Given the description of an element on the screen output the (x, y) to click on. 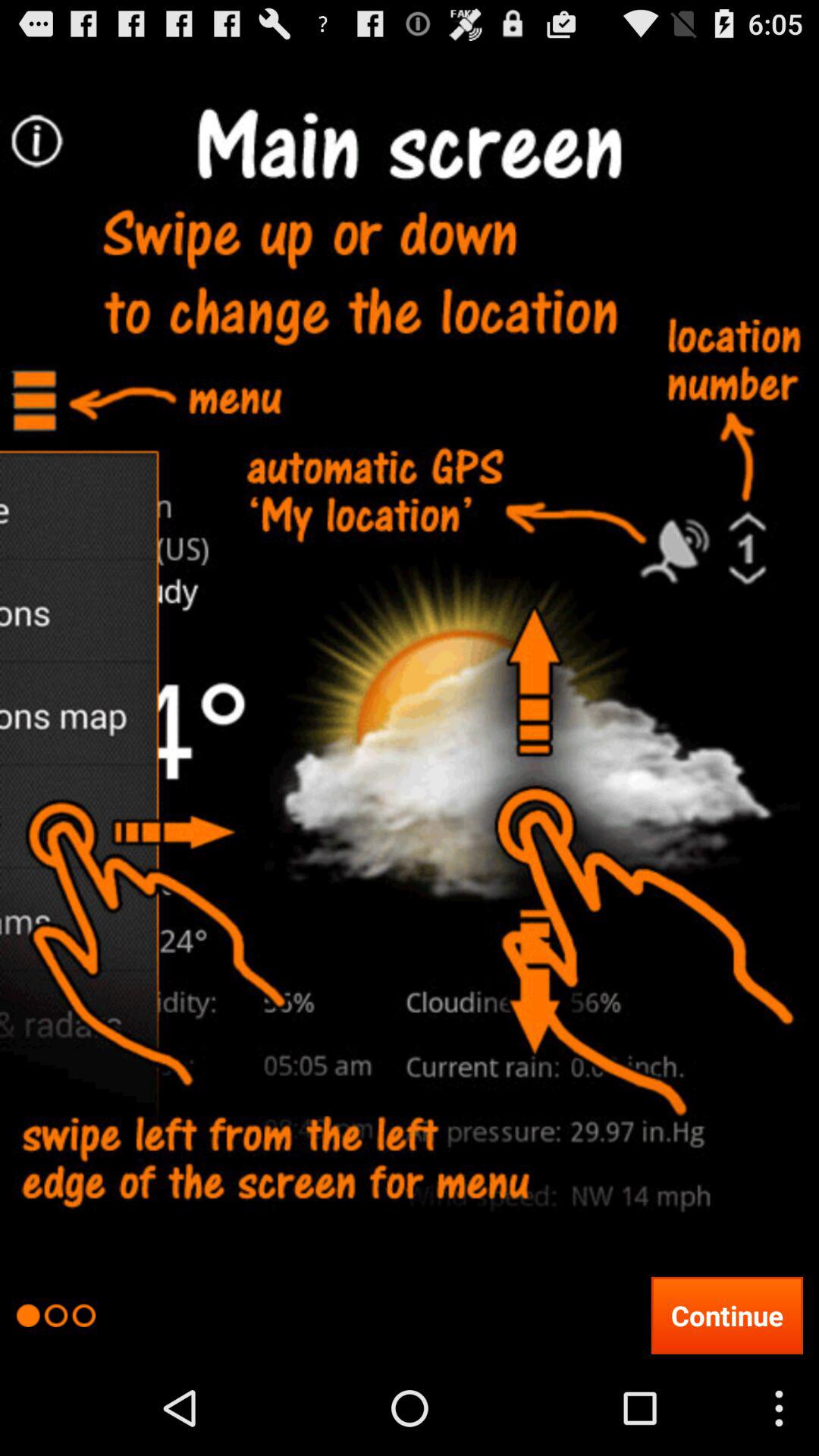
jump until the continue icon (727, 1315)
